Given the description of an element on the screen output the (x, y) to click on. 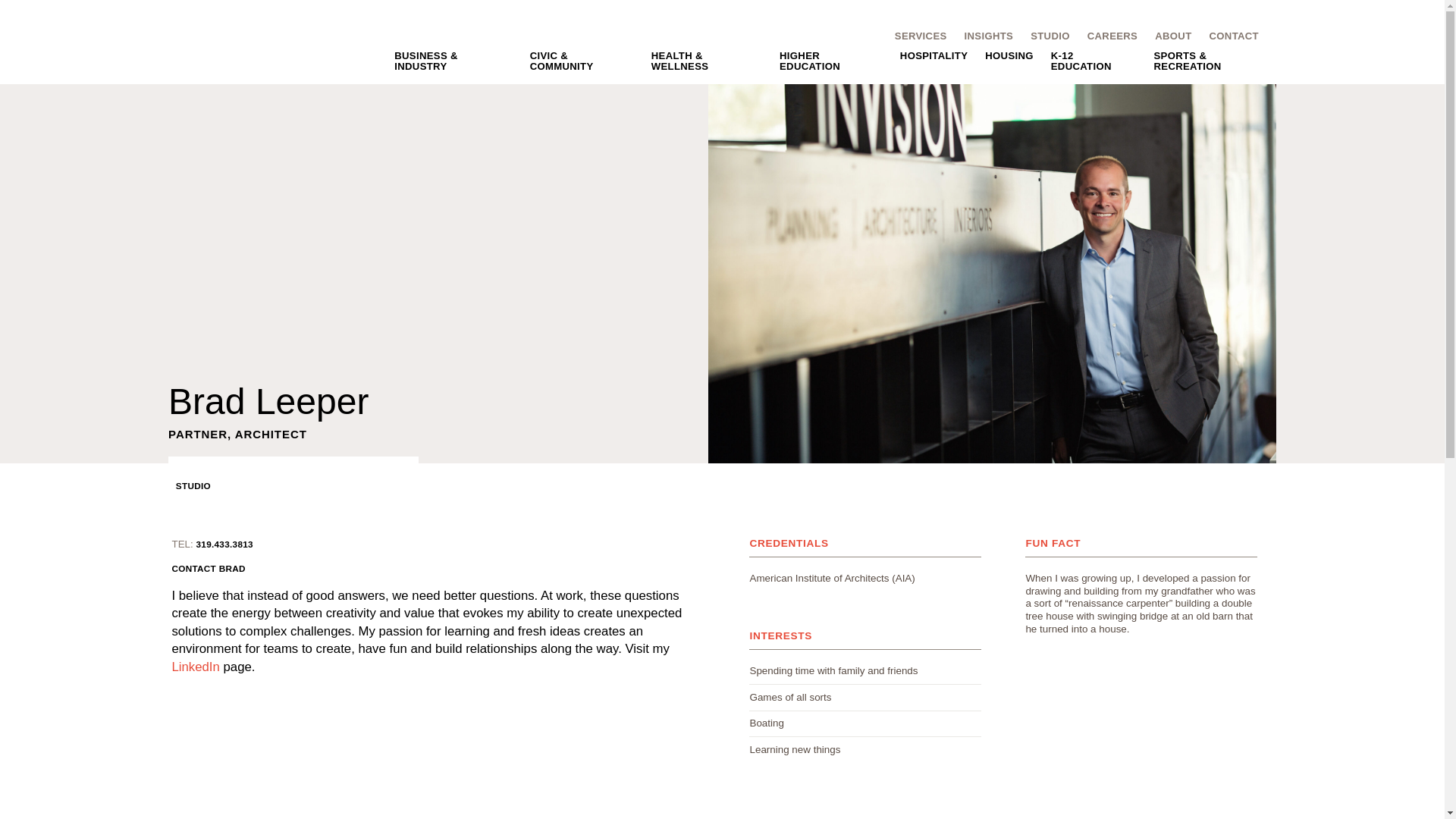
CAREERS (1103, 35)
SERVICES (912, 35)
INVISION Architecture (266, 49)
ABOUT (1164, 35)
CONTACT (1225, 35)
HOSPITALITY (925, 55)
INSIGHTS (980, 35)
CONTACT BRAD (207, 568)
STUDIO (1041, 35)
319.433.3813 (223, 543)
  STUDIO (190, 485)
HOUSING (1000, 55)
K-12 EDUCATION (1085, 60)
LinkedIn (196, 667)
HIGHER EDUCATION (821, 60)
